Given the description of an element on the screen output the (x, y) to click on. 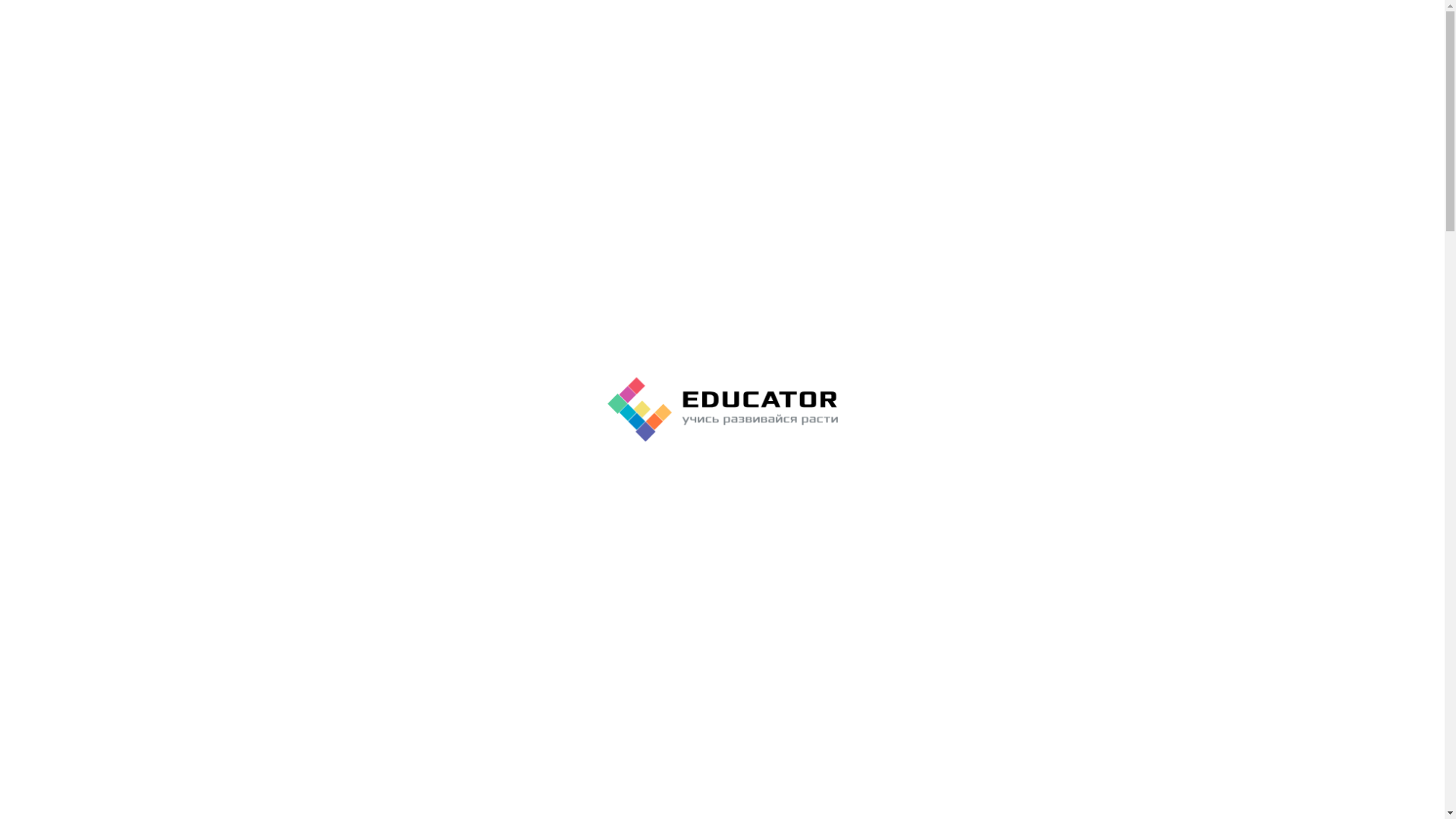
Home Element type: text (121, 84)
